Given the description of an element on the screen output the (x, y) to click on. 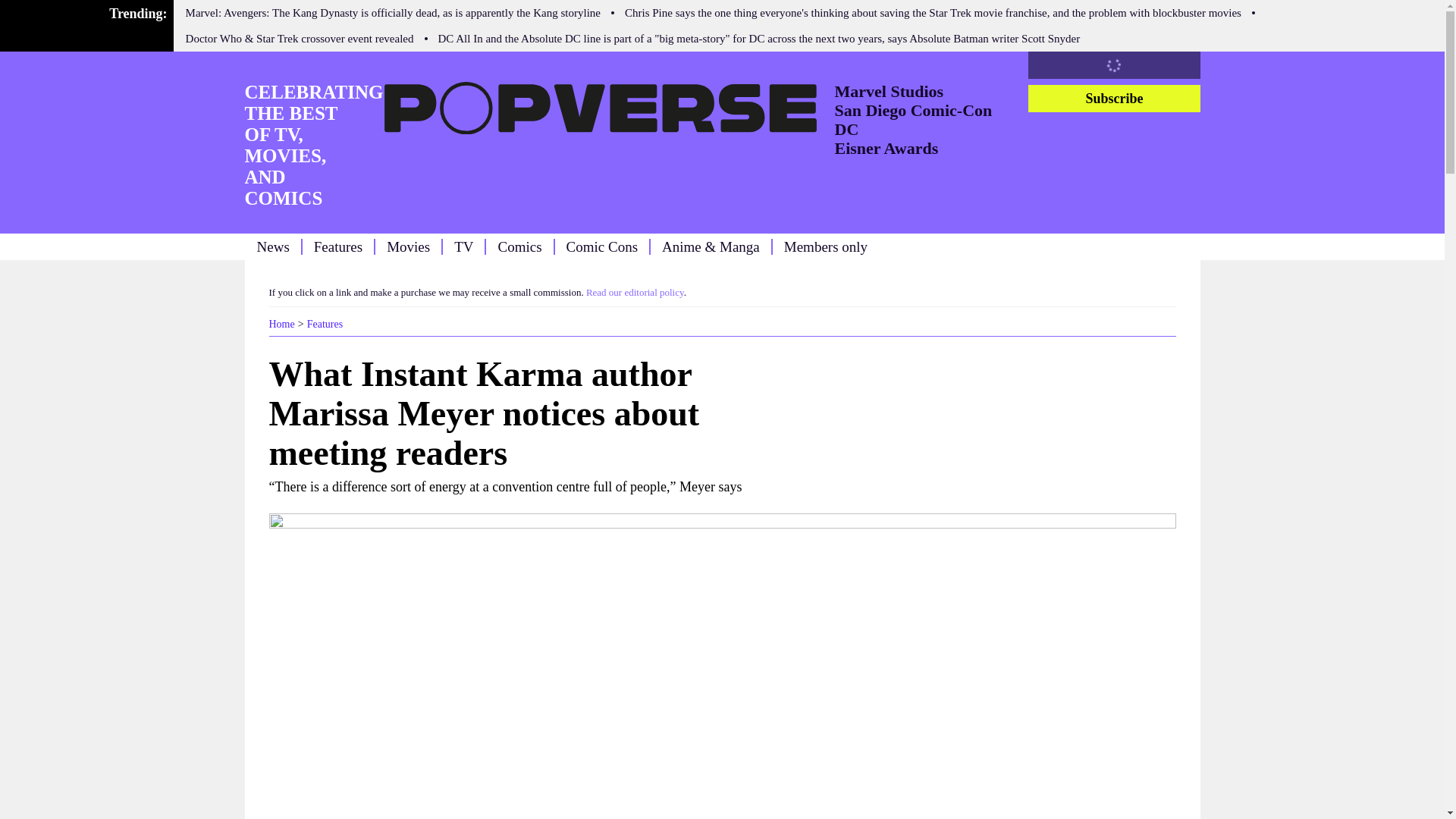
Comics (519, 246)
San Diego Comic-Con (912, 109)
DC (846, 128)
Eisner Awards (885, 148)
TV (463, 246)
Home (280, 324)
News (272, 246)
Marvel Studios (888, 90)
Features (324, 324)
Features (324, 324)
Eisner Awards (885, 148)
News (272, 246)
Comic Cons (601, 246)
Features (338, 246)
